Given the description of an element on the screen output the (x, y) to click on. 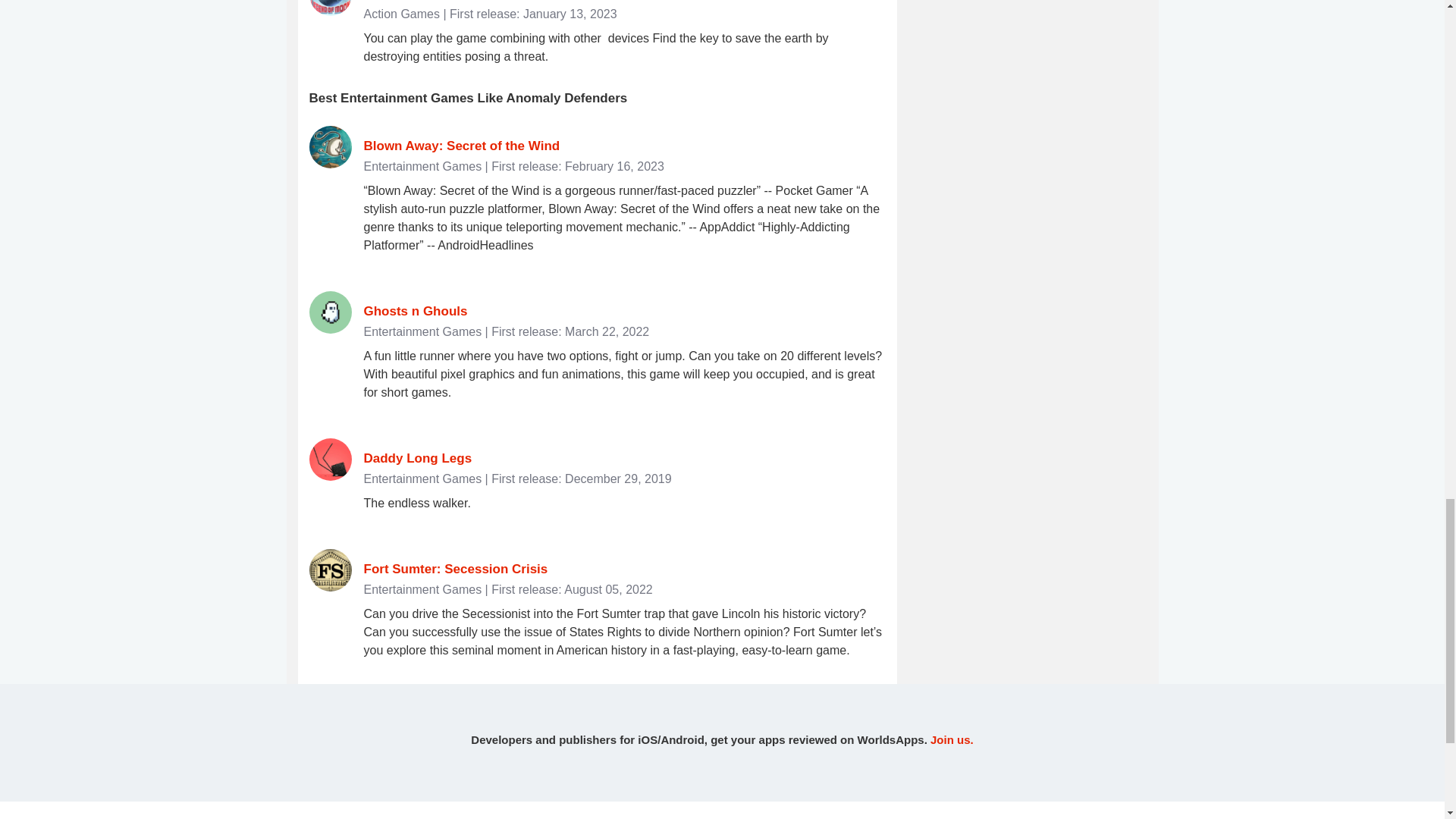
Blown Away: Secret of the Wind (462, 145)
Fort Sumter: Secession Crisis (456, 568)
Join us. (952, 739)
Ghosts n Ghouls (415, 310)
Daddy Long Legs (417, 458)
